Given the description of an element on the screen output the (x, y) to click on. 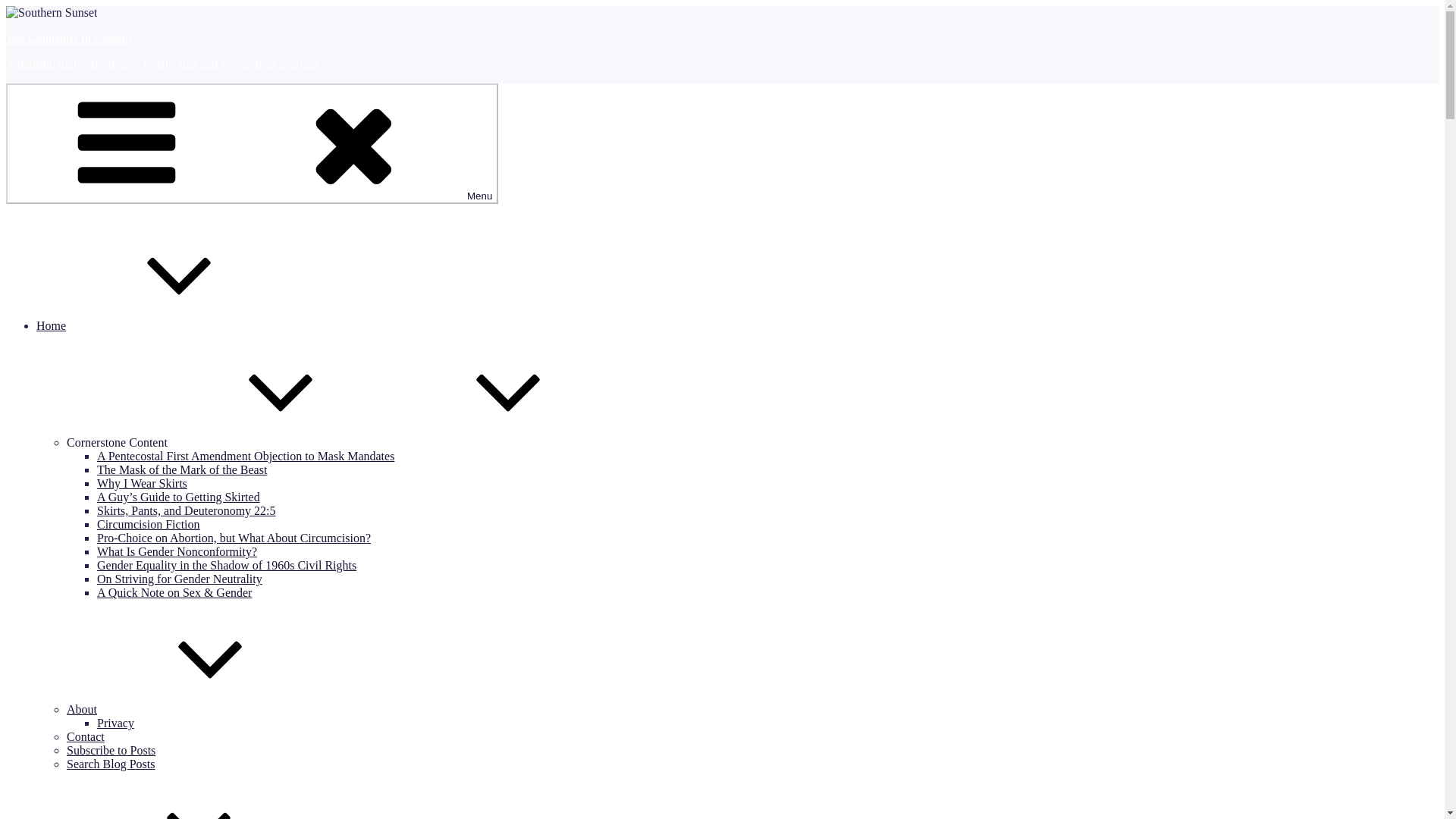
A Pentecostal First Amendment Objection to Mask Mandates (245, 455)
Privacy (115, 722)
Subscribe to receive email notification of future blog posts (110, 749)
Circumcision Fiction (148, 523)
Subscribe to Posts (110, 749)
About (195, 708)
What Is Gender Nonconformity? (177, 551)
Contact (85, 736)
Search Blog Posts (110, 763)
The Mask of the Mark of the Beast (181, 469)
Vox Clamantis In Deserto (68, 38)
Why I Wear Skirts (142, 482)
